Given the description of an element on the screen output the (x, y) to click on. 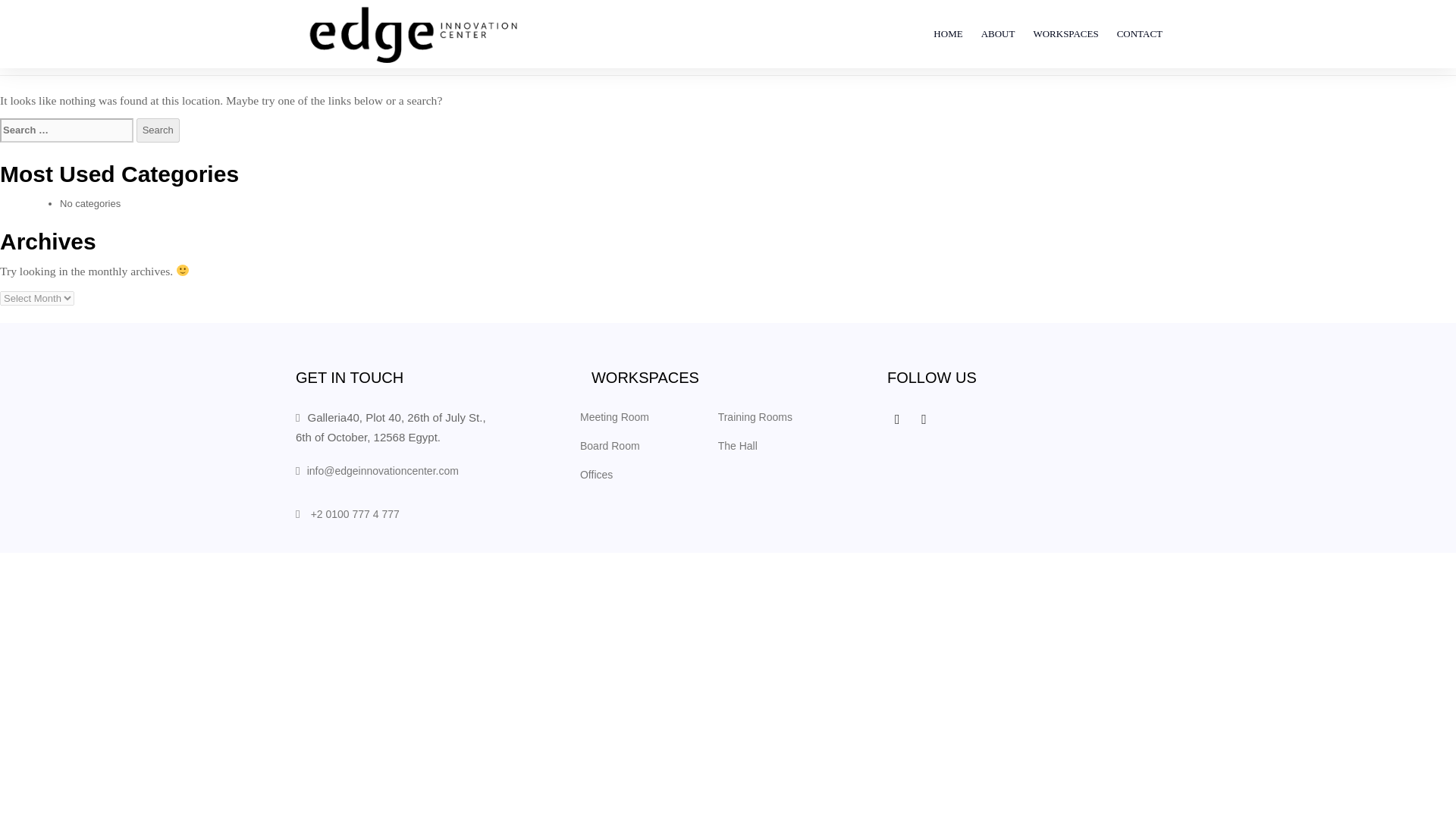
Search (157, 129)
ABOUT (998, 33)
CONTACT (1140, 33)
Search (157, 129)
HOME (947, 33)
Board Room (609, 445)
Meeting Room (614, 416)
The Hall (737, 445)
Offices (595, 475)
Search (157, 129)
Training Rooms (754, 416)
WORKSPACES (1064, 33)
